Given the description of an element on the screen output the (x, y) to click on. 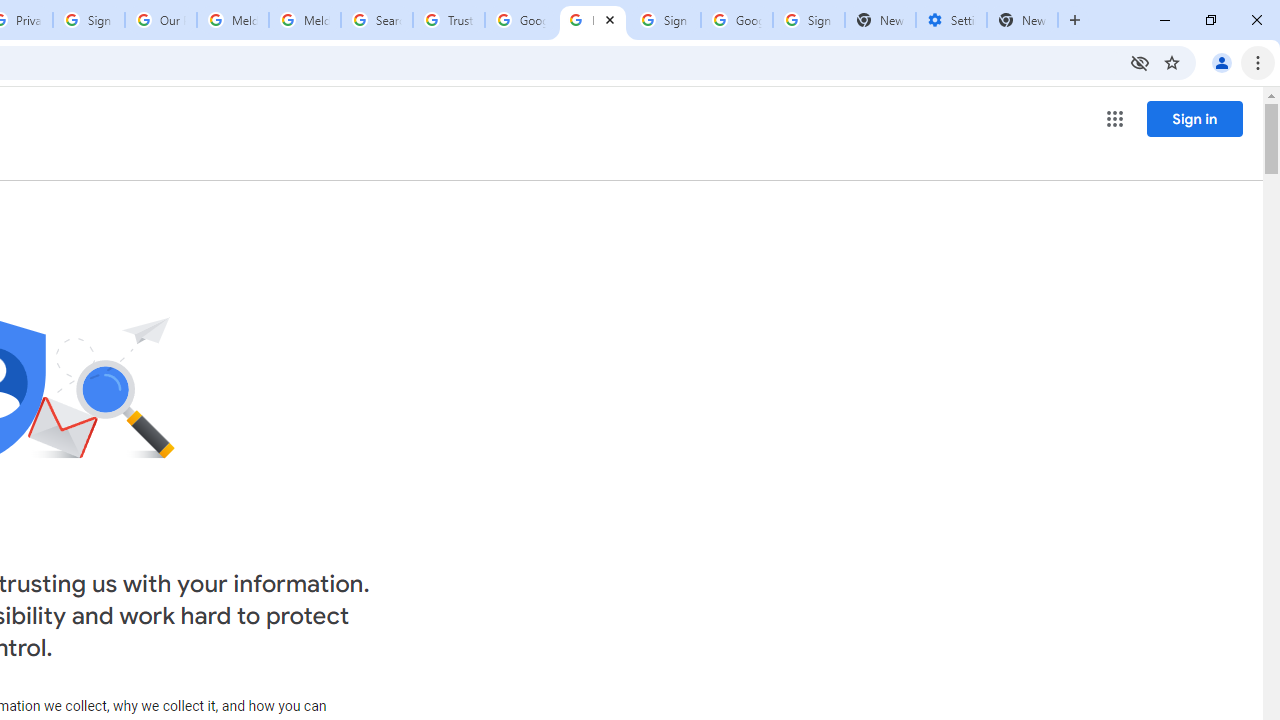
Google Cybersecurity Innovations - Google Safety Center (737, 20)
New Tab (1022, 20)
Trusted Information and Content - Google Safety Center (449, 20)
Search our Doodle Library Collection - Google Doodles (376, 20)
